Given the description of an element on the screen output the (x, y) to click on. 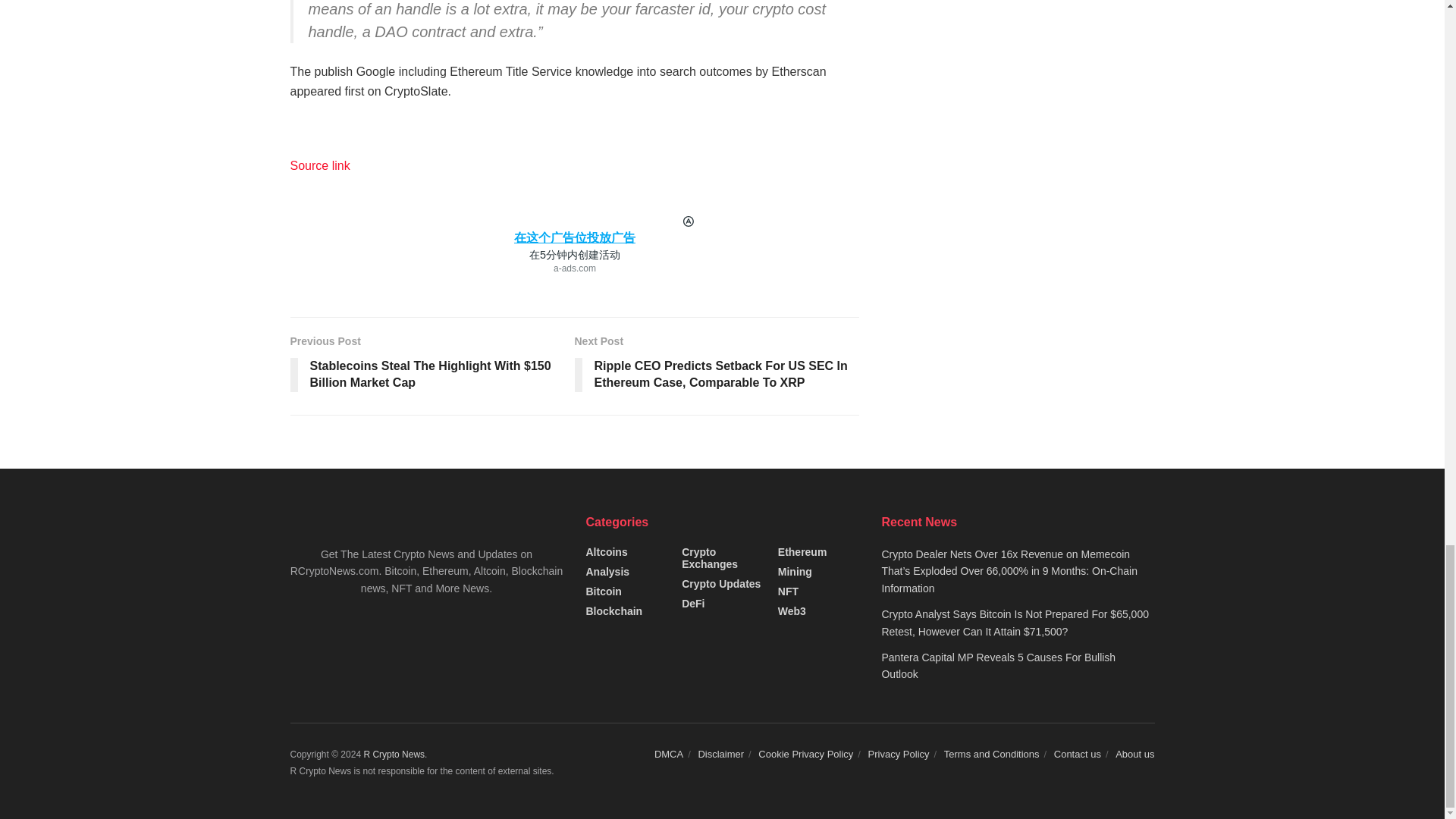
R Crypto News (393, 754)
